Given the description of an element on the screen output the (x, y) to click on. 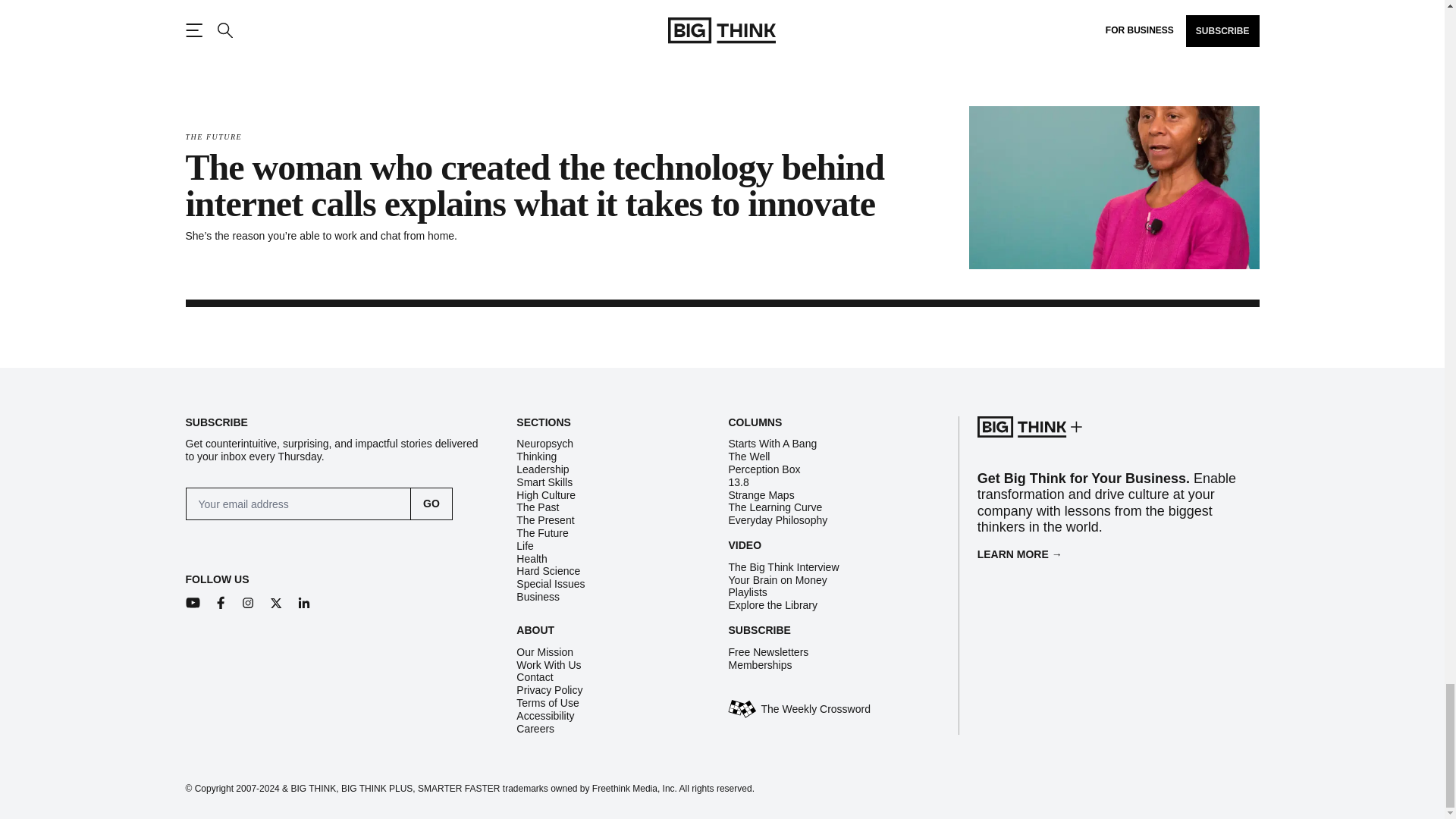
Go (431, 503)
